Given the description of an element on the screen output the (x, y) to click on. 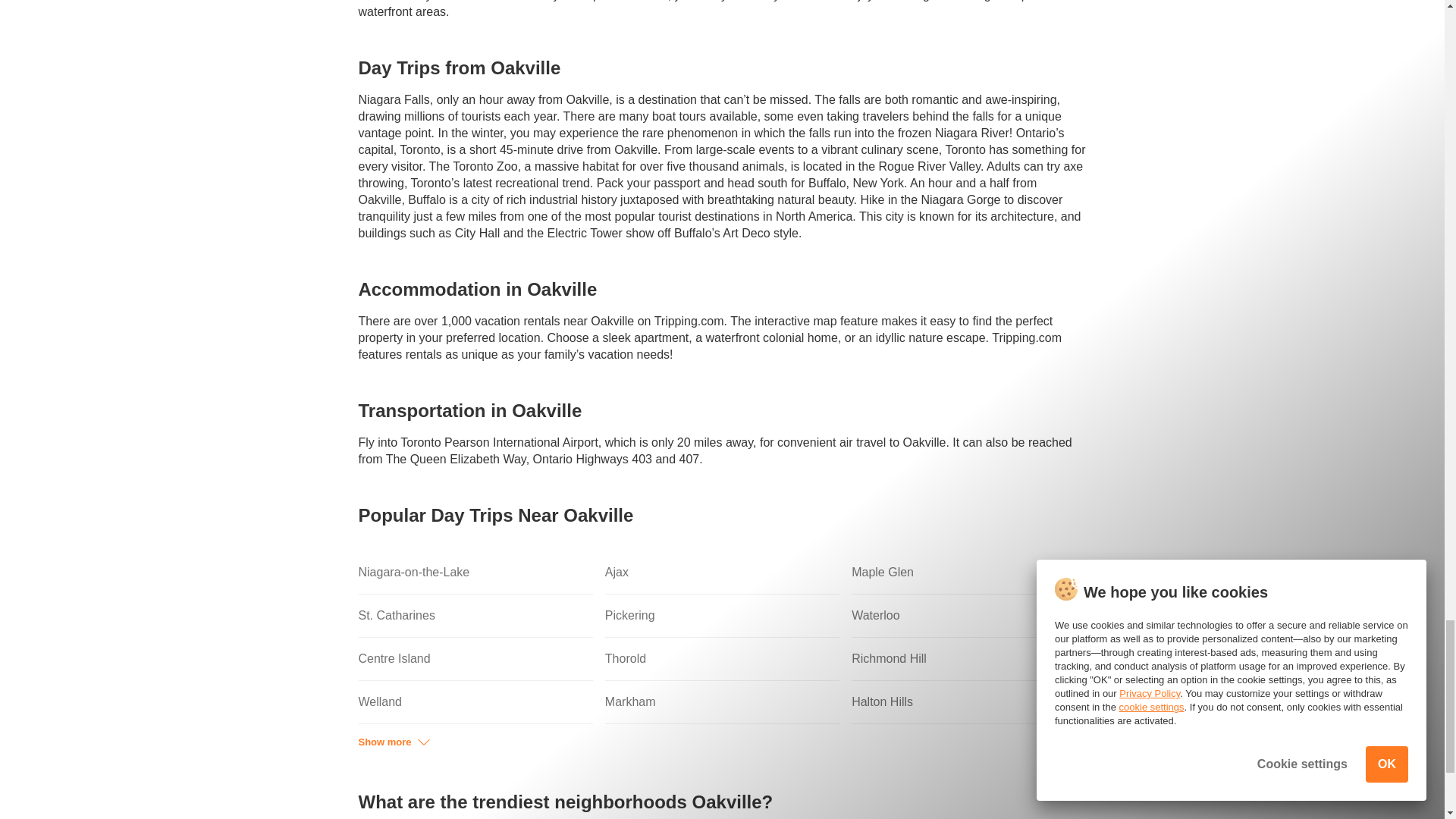
Niagara-on-the-Lake (475, 572)
Maple Glen (968, 572)
Centre Island (475, 659)
Waterloo (968, 616)
St. Catharines (475, 616)
Pickering (722, 616)
Ajax (722, 572)
